Given the description of an element on the screen output the (x, y) to click on. 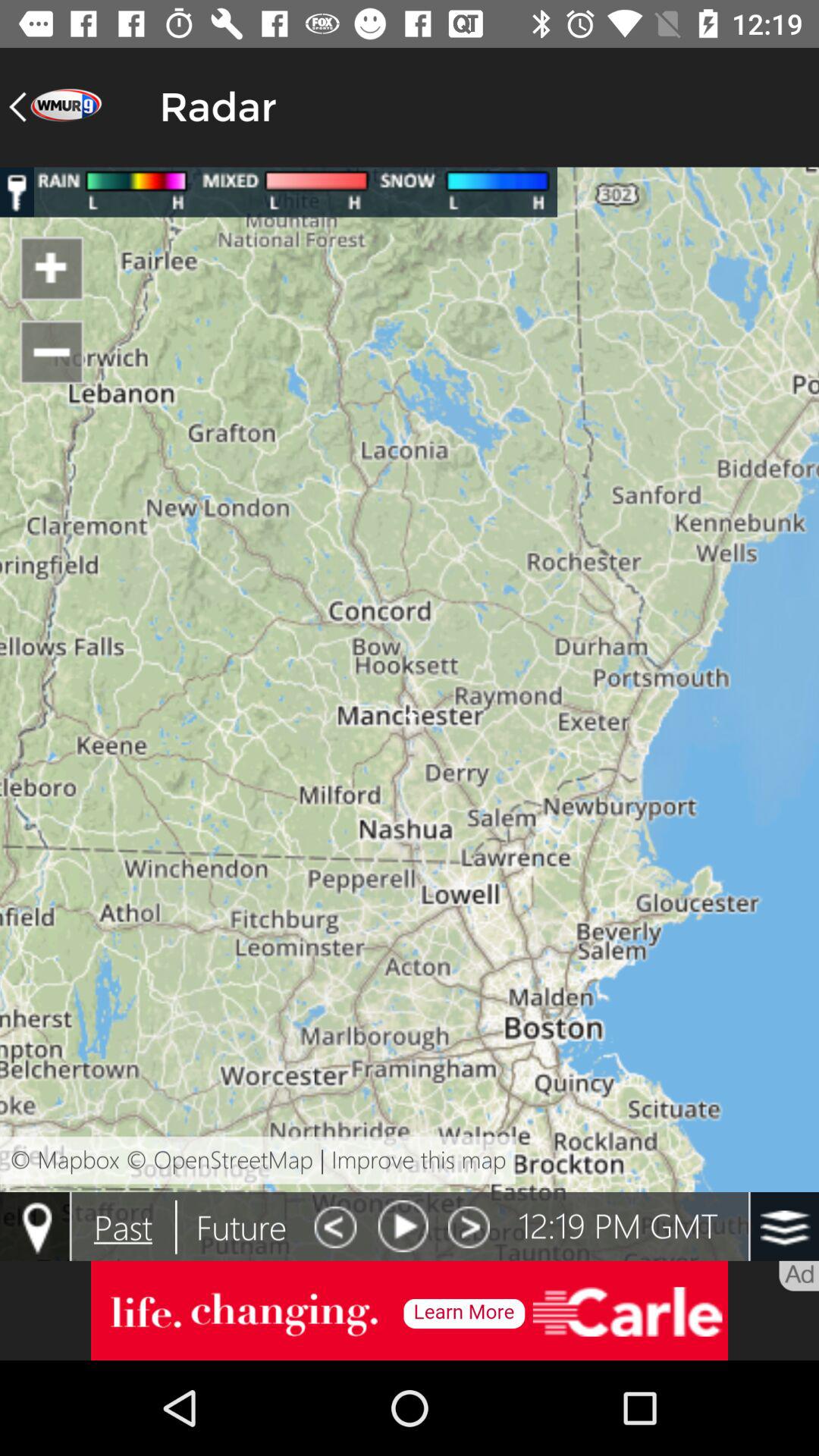
the button is used to advertisement option (409, 1310)
